Given the description of an element on the screen output the (x, y) to click on. 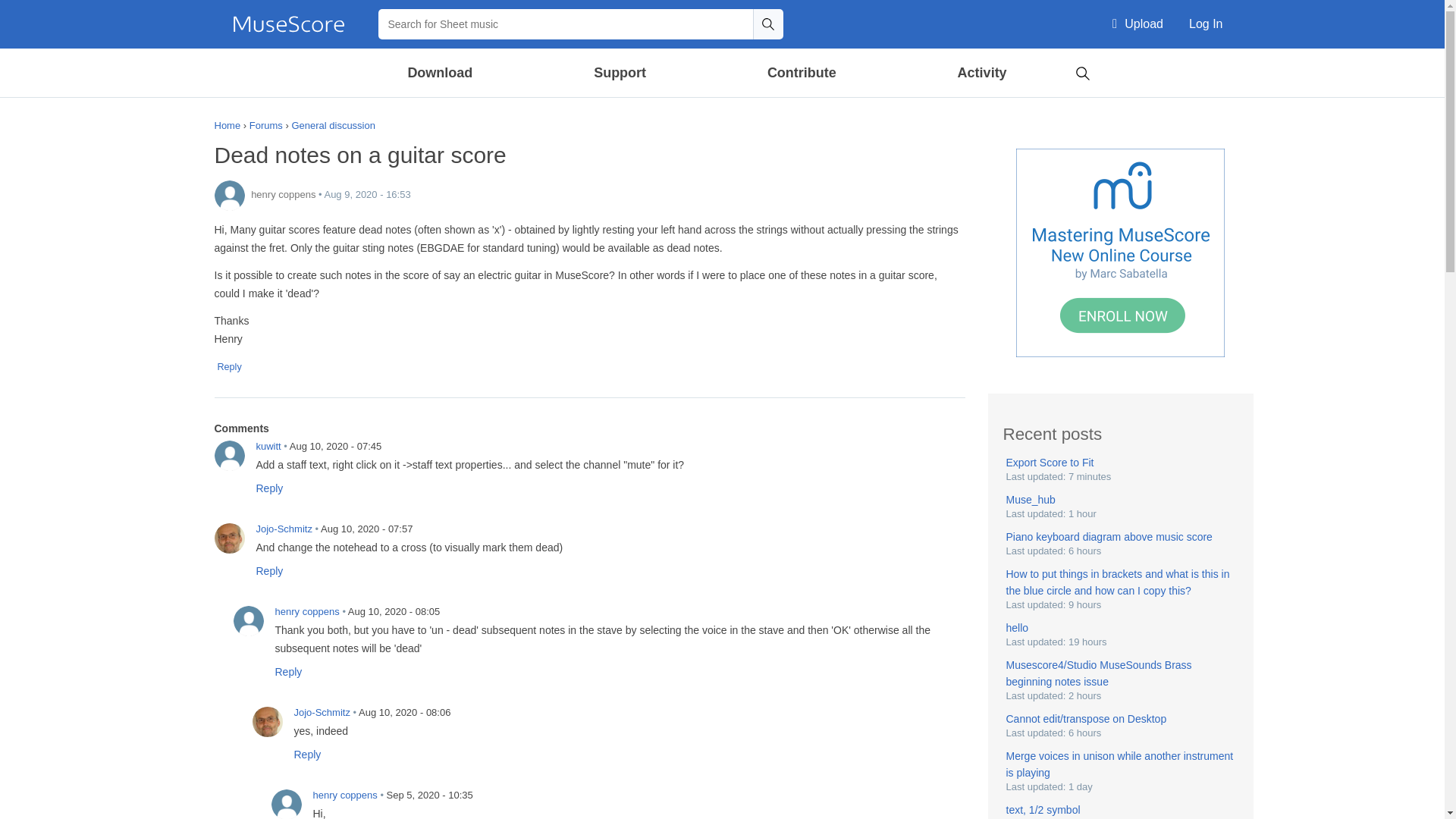
Log In (1205, 24)
Support (619, 72)
MuseScore (287, 23)
Search (767, 24)
henry coppens (285, 804)
Upload (1137, 24)
Download (440, 72)
henry coppens (229, 195)
Jojo-Schmitz (229, 538)
kuwitt (229, 455)
Activity (981, 72)
Home (287, 23)
Contribute (801, 72)
Jojo-Schmitz (266, 721)
